Given the description of an element on the screen output the (x, y) to click on. 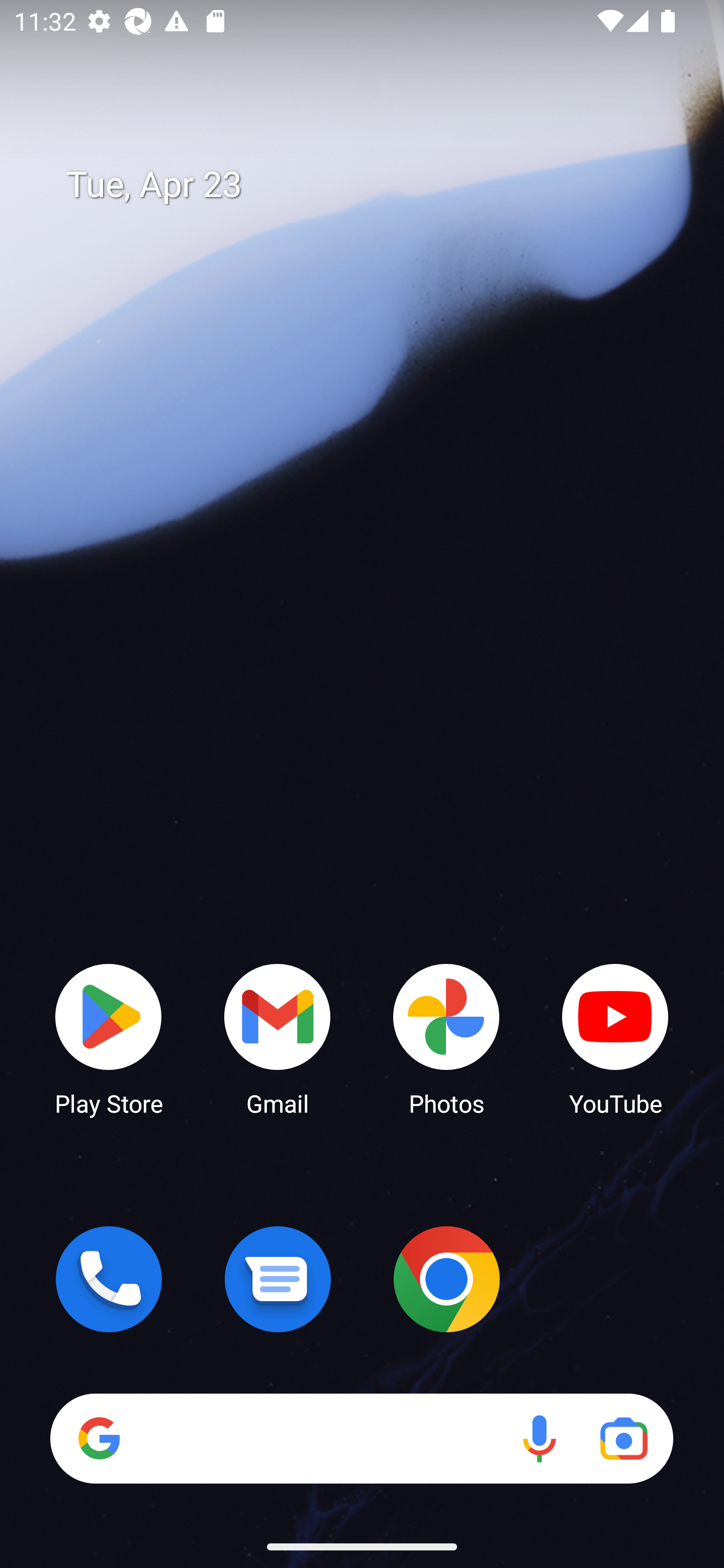
Tue, Apr 23 (375, 184)
Play Store (108, 1038)
Gmail (277, 1038)
Photos (445, 1038)
YouTube (615, 1038)
Phone (108, 1279)
Messages (277, 1279)
Chrome (446, 1279)
Search Voice search Google Lens (361, 1438)
Voice search (539, 1438)
Google Lens (623, 1438)
